Given the description of an element on the screen output the (x, y) to click on. 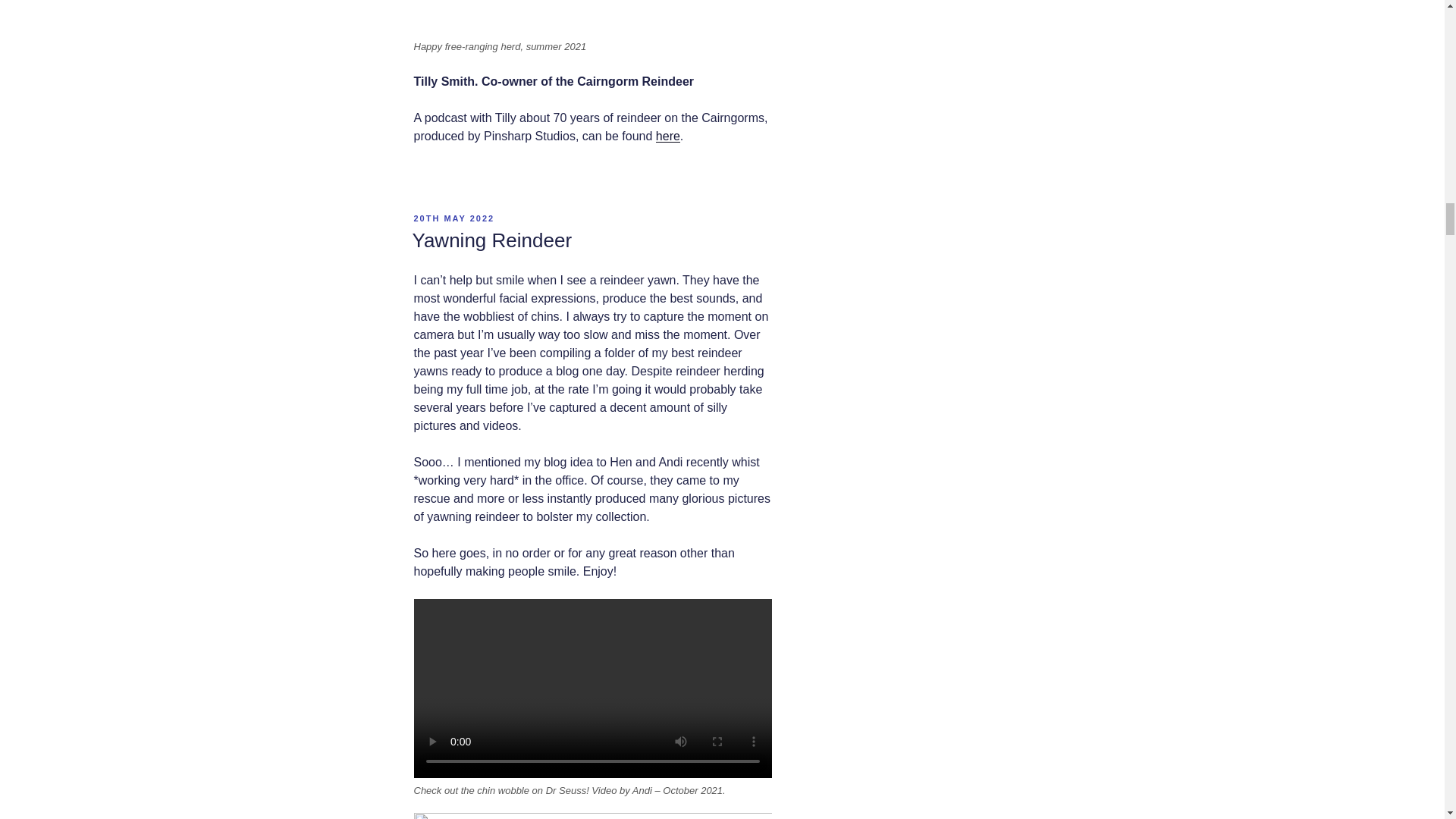
20TH MAY 2022 (454, 217)
Yawning Reindeer (492, 240)
here (667, 135)
